Given the description of an element on the screen output the (x, y) to click on. 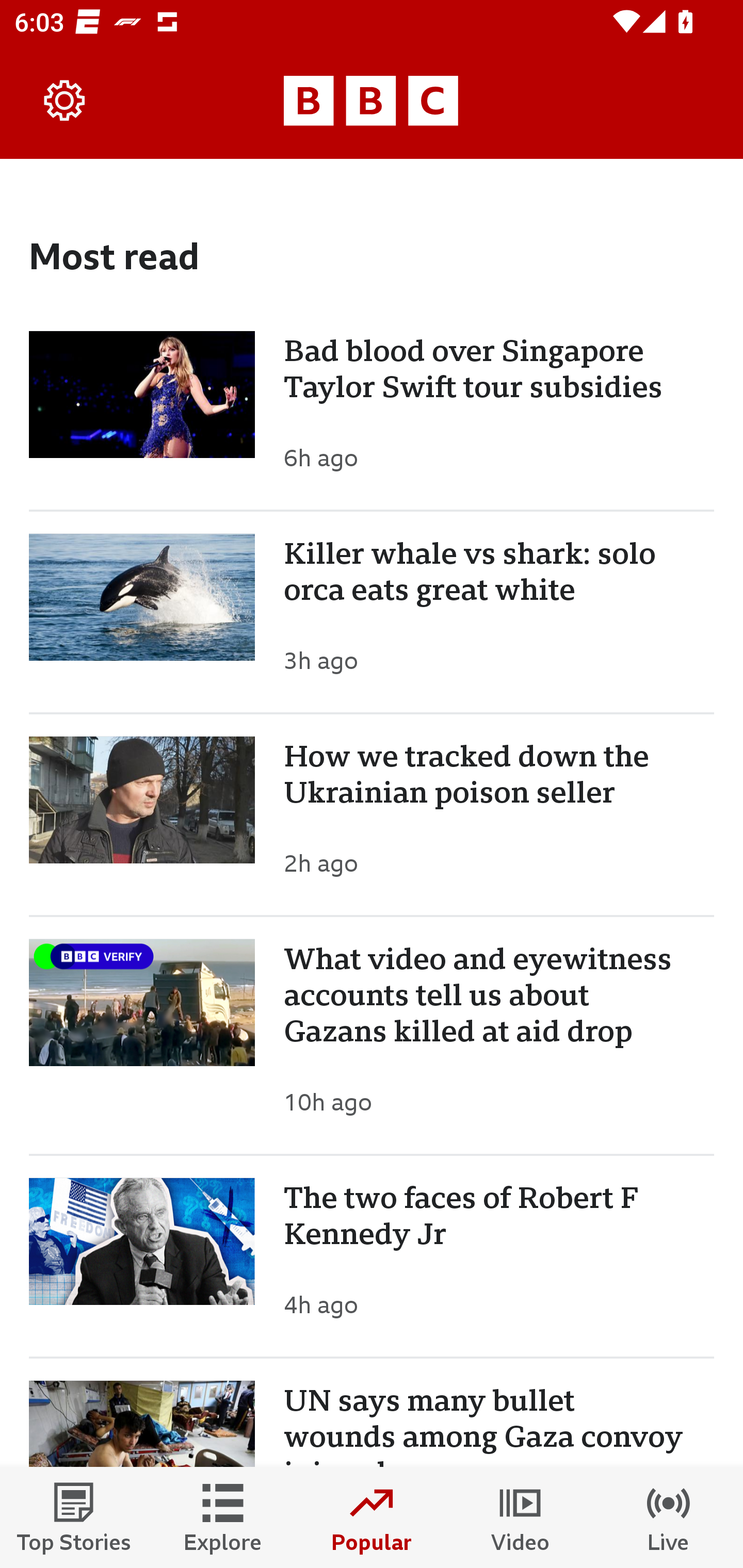
Settings (64, 100)
Top Stories (74, 1517)
Explore (222, 1517)
Video (519, 1517)
Live (668, 1517)
